Given the description of an element on the screen output the (x, y) to click on. 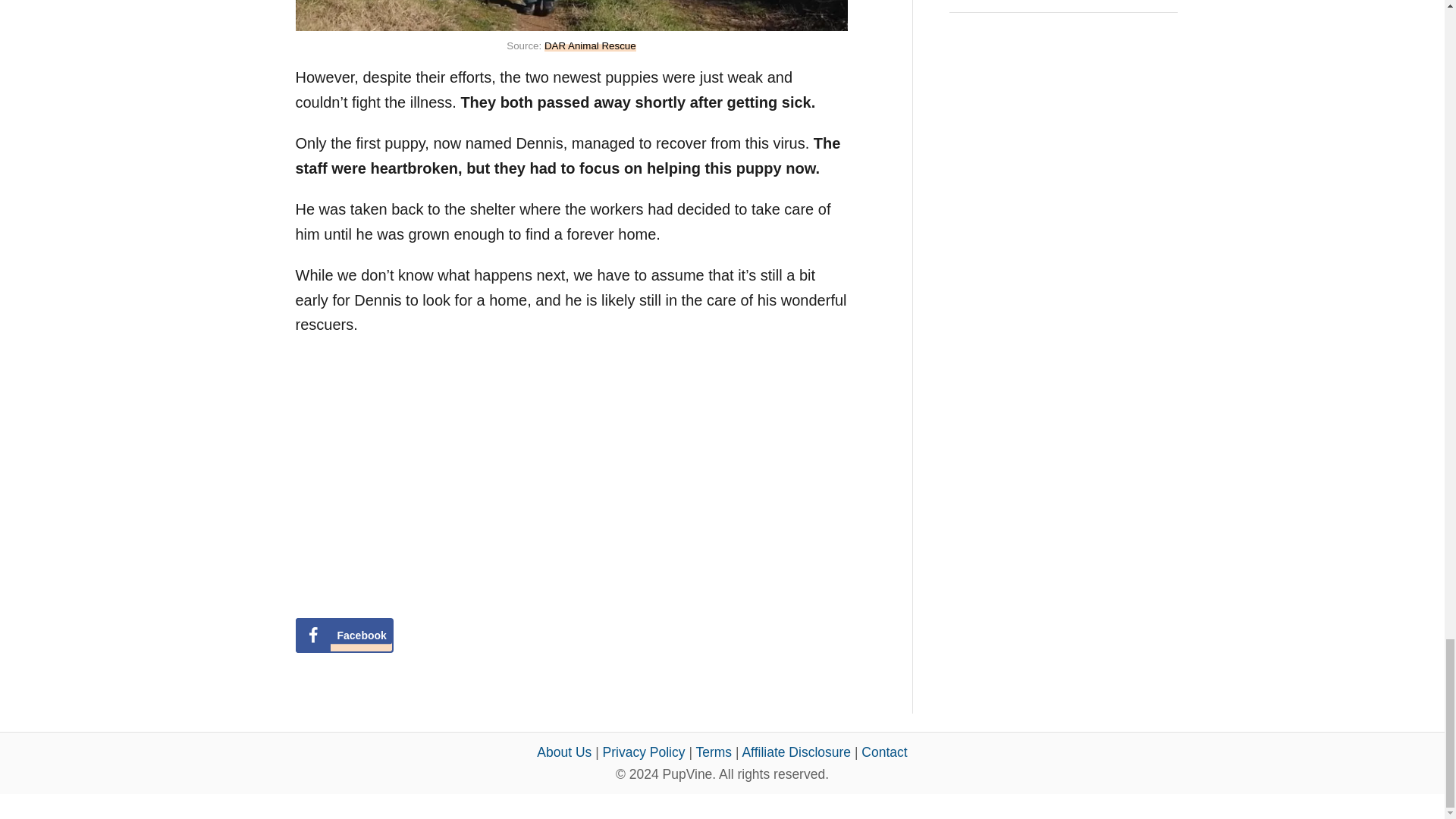
Share on Facebook (344, 635)
Privacy Policy (643, 752)
DAR Animal Rescue (590, 45)
About Us (564, 752)
Affiliate Disclosure (795, 752)
Terms (713, 752)
Contact (884, 752)
Puppies dumped like trash....abandoned and helpless to die. (507, 472)
Facebook (344, 635)
